Given the description of an element on the screen output the (x, y) to click on. 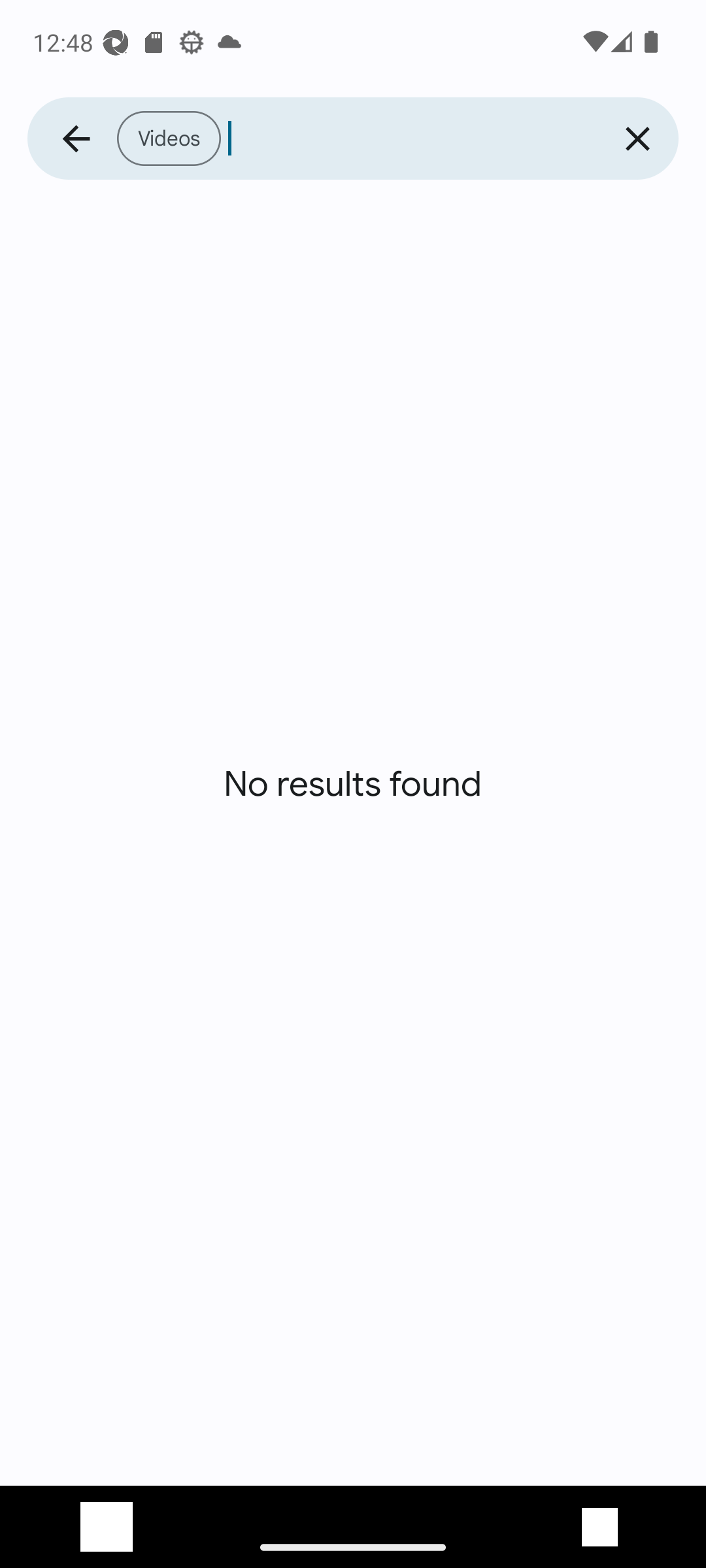
Go back (75, 138)
Videos  (356, 138)
Clear search (636, 138)
